Given the description of an element on the screen output the (x, y) to click on. 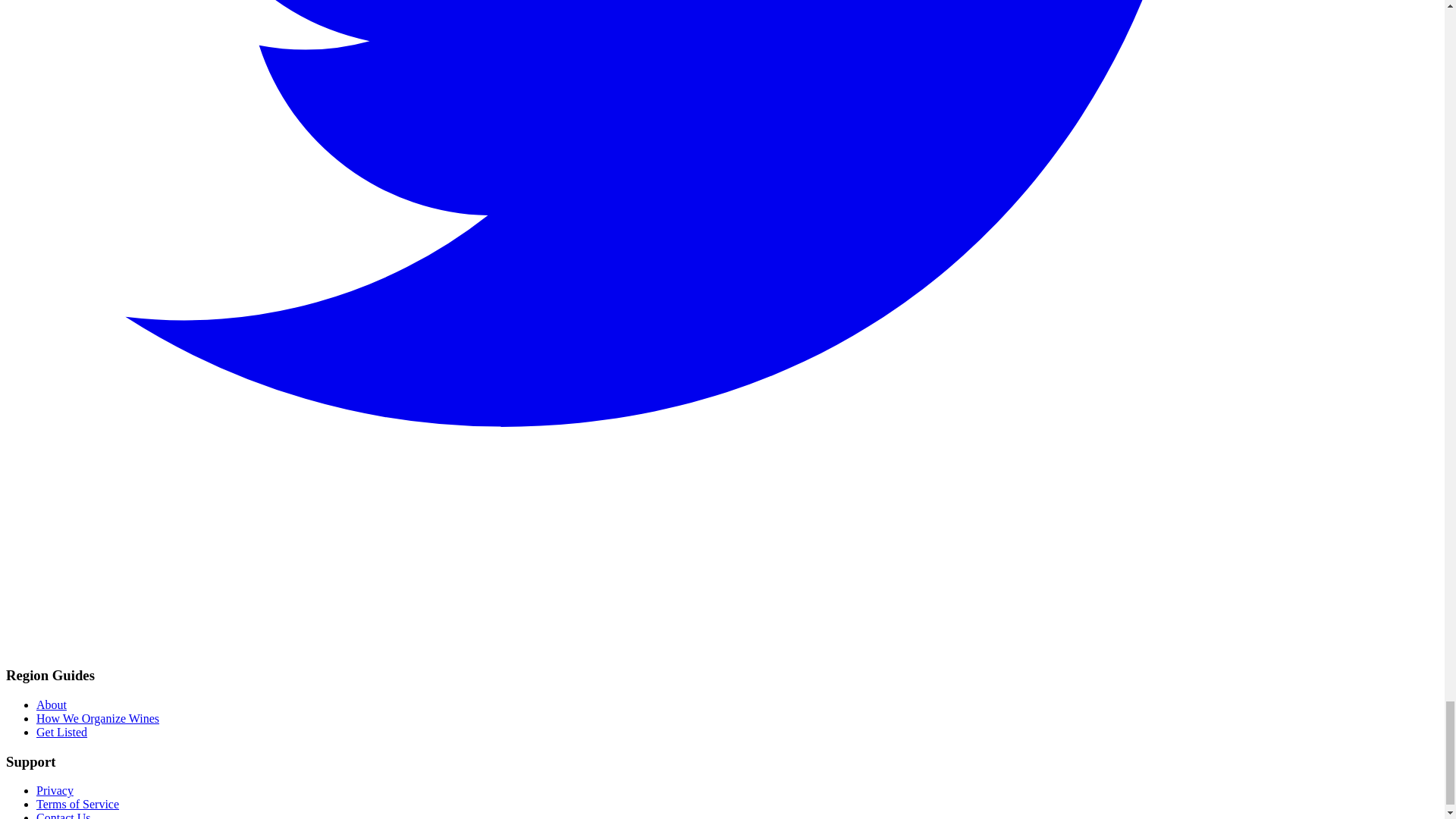
How We Organize Wines (97, 717)
About (51, 704)
Terms of Service (77, 803)
Privacy (55, 789)
Get Listed (61, 731)
